Given the description of an element on the screen output the (x, y) to click on. 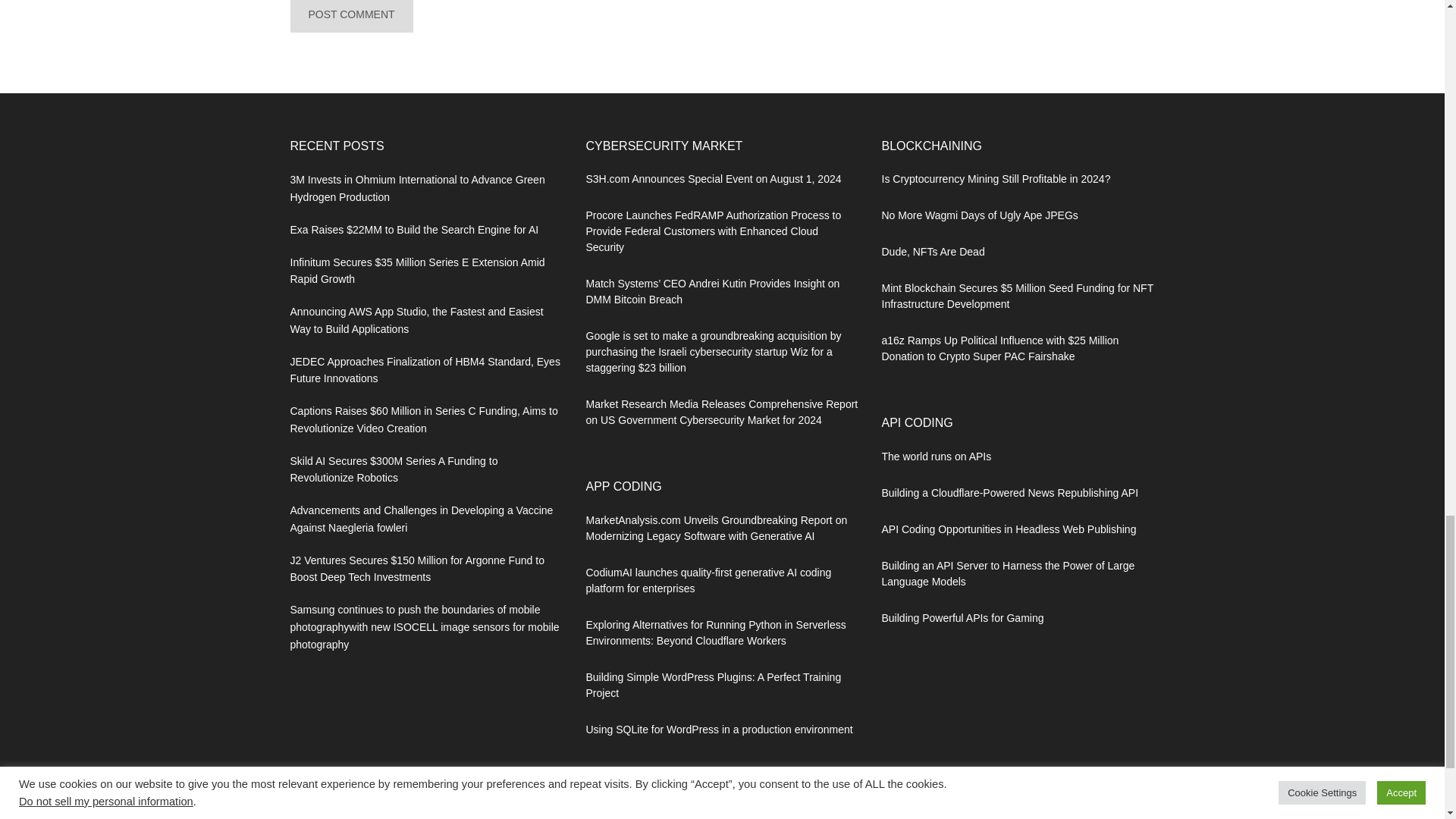
Post Comment (350, 16)
Post Comment (350, 16)
